Given the description of an element on the screen output the (x, y) to click on. 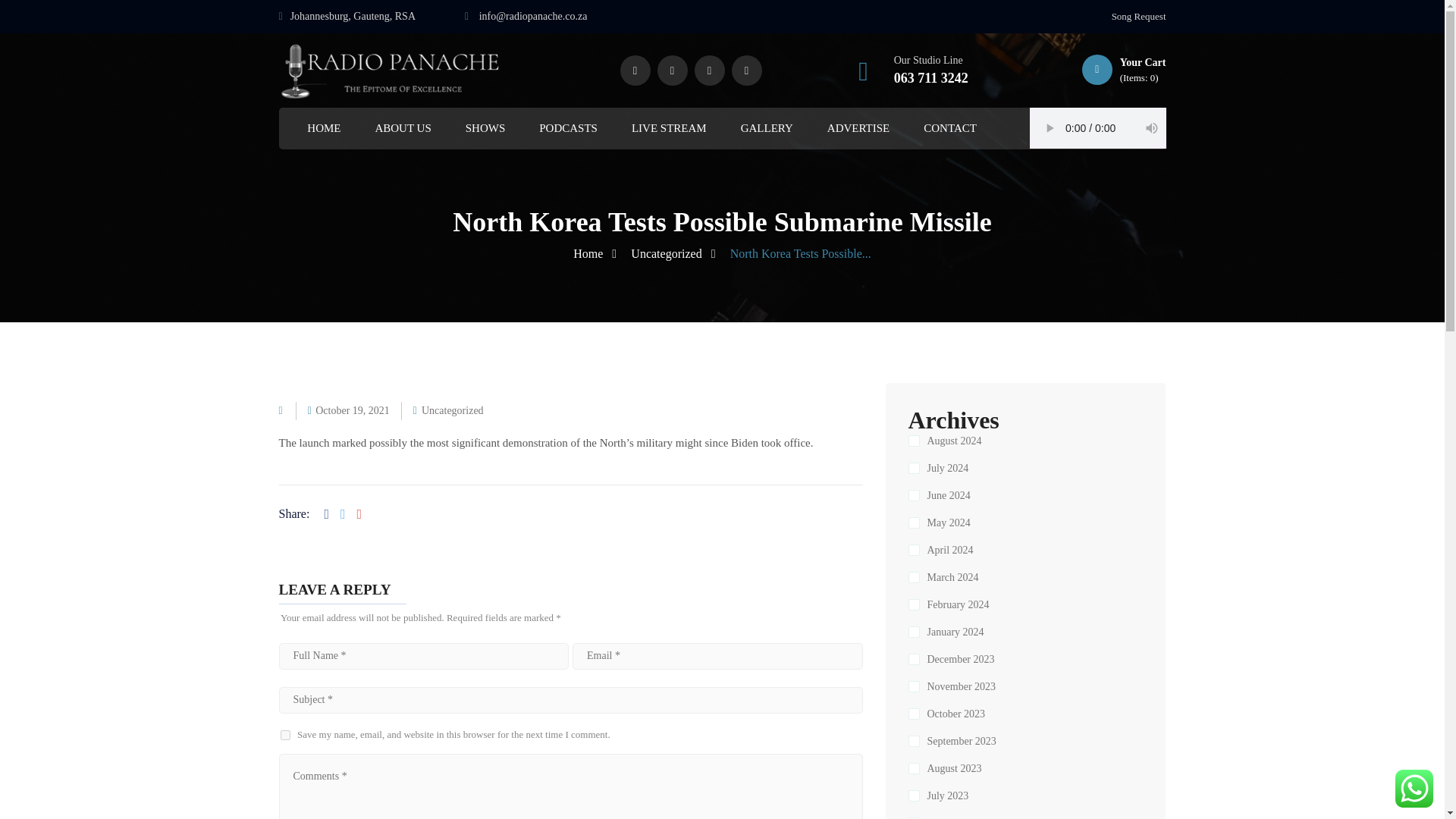
yes (285, 735)
CONTACT (949, 128)
HOME (323, 128)
ABOUT US (402, 128)
SHOWS (485, 128)
Song Request (1139, 16)
063 711 3242 (930, 77)
GALLERY (767, 128)
PODCASTS (567, 128)
ADVERTISE (858, 128)
